Given the description of an element on the screen output the (x, y) to click on. 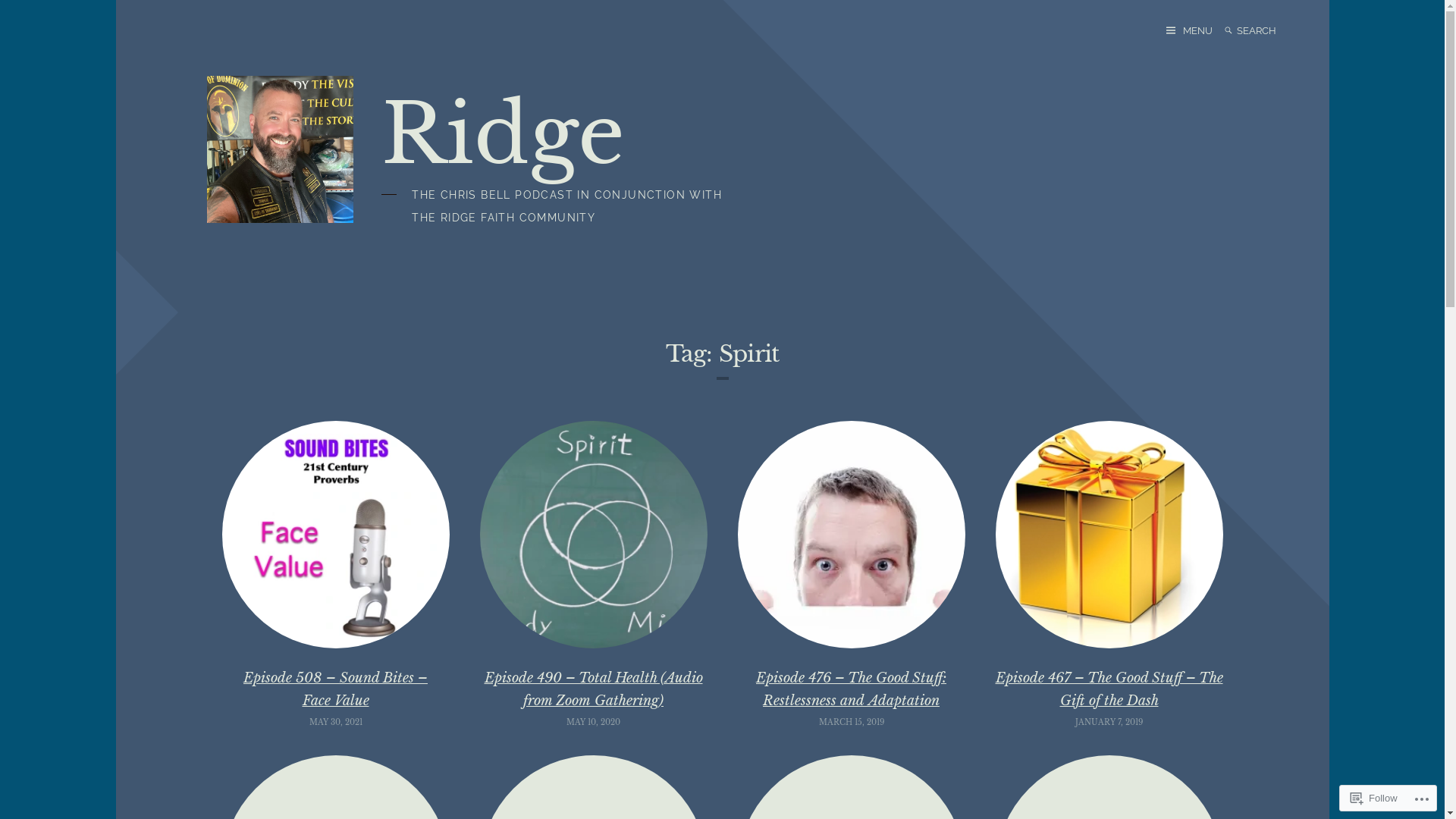
MENU Element type: text (1189, 30)
Search for: Element type: hover (1267, 30)
MAY 30, 2021 Element type: text (335, 722)
JANUARY 7, 2019 Element type: text (1108, 722)
Ridge Element type: text (502, 134)
MARCH 15, 2019 Element type: text (851, 722)
MAY 10, 2020 Element type: text (593, 722)
Follow Element type: text (1373, 797)
